Given the description of an element on the screen output the (x, y) to click on. 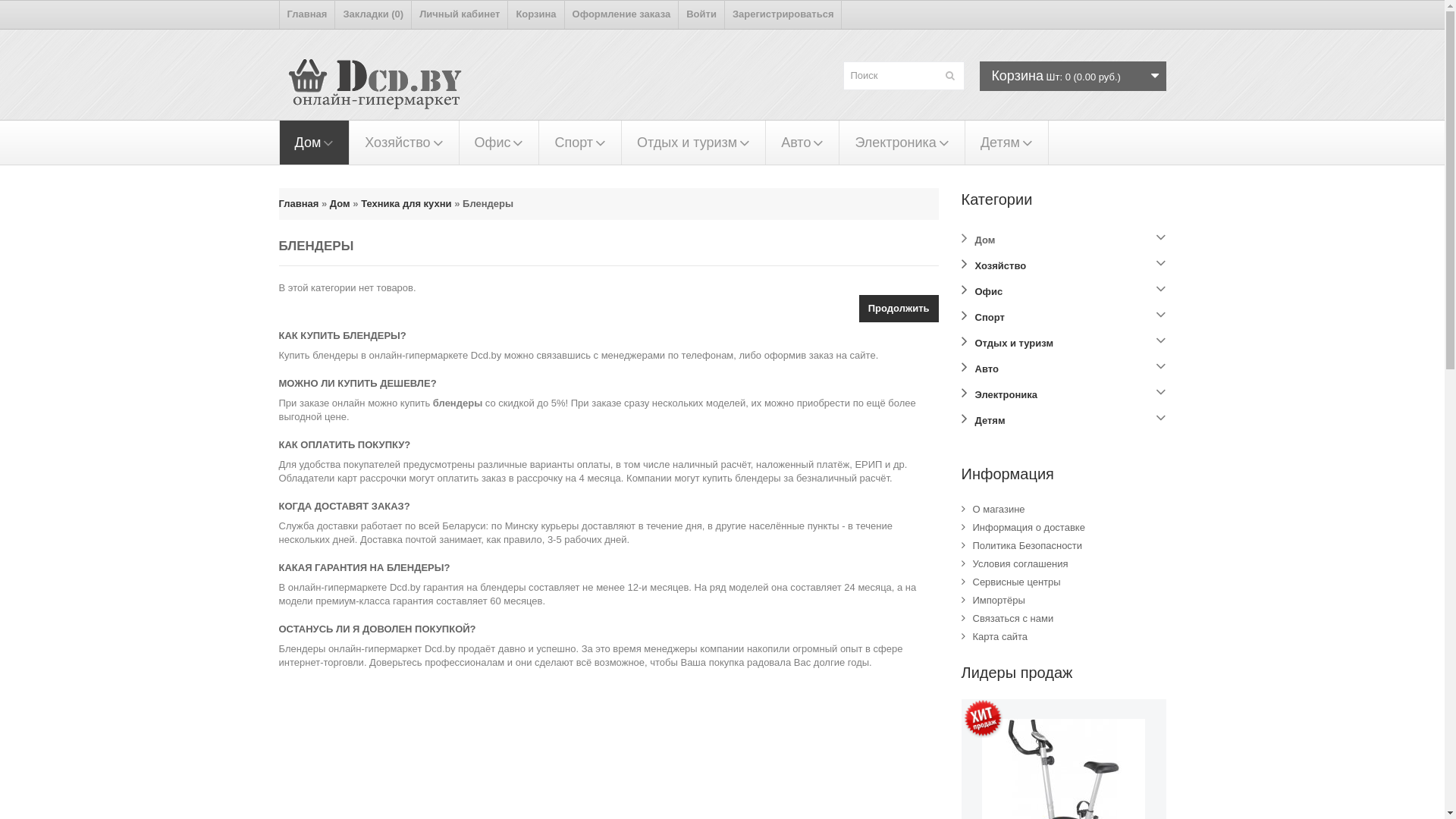
Dcd.by Element type: hover (382, 88)
